Given the description of an element on the screen output the (x, y) to click on. 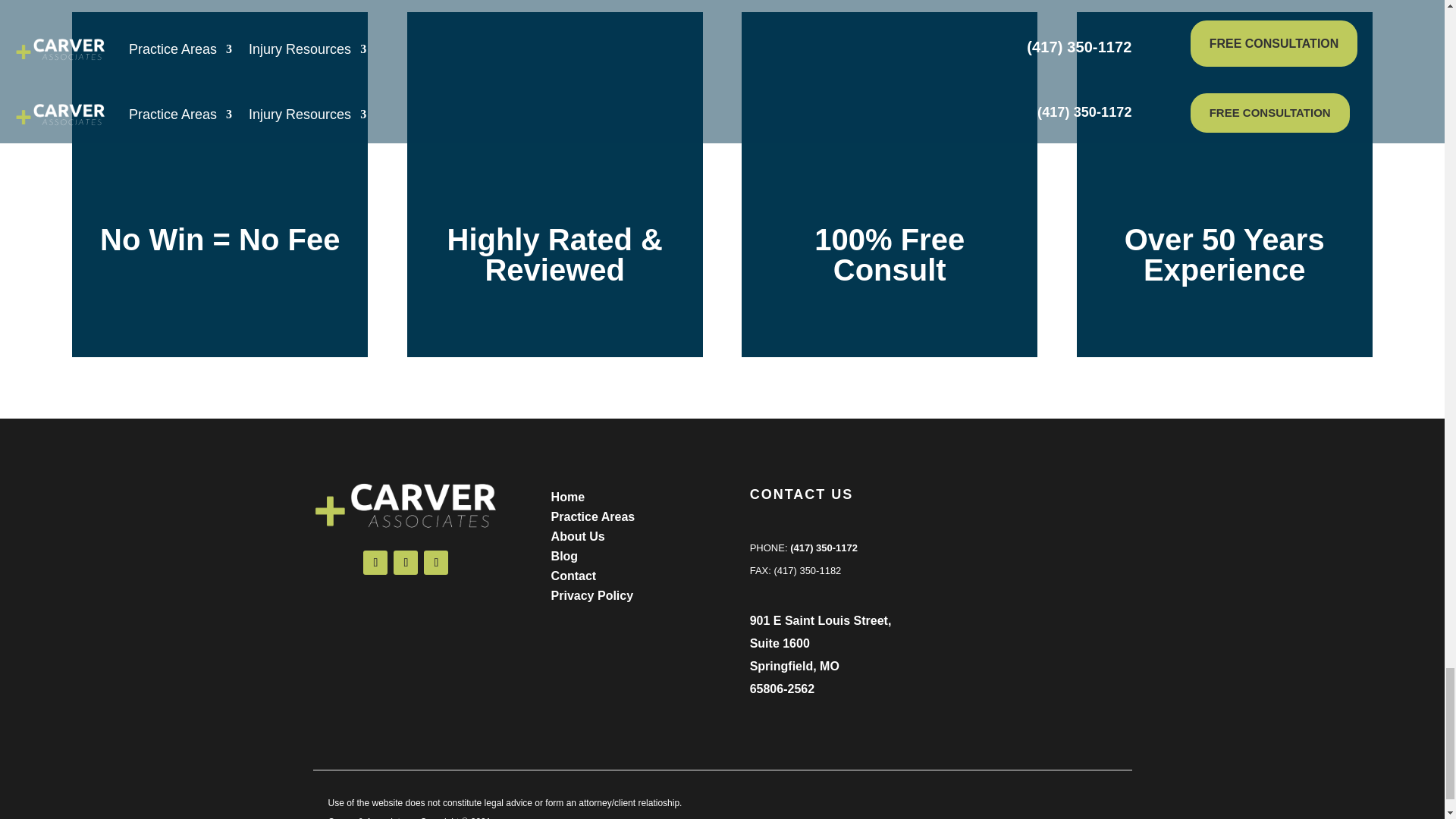
Carver associates logo (406, 504)
Constellation Marketing Lawyer Marketing (1055, 805)
Follow on Facebook (374, 562)
Follow on Instagram (405, 562)
carver law location map small min (1038, 572)
Follow on LinkedIn (435, 562)
